Given the description of an element on the screen output the (x, y) to click on. 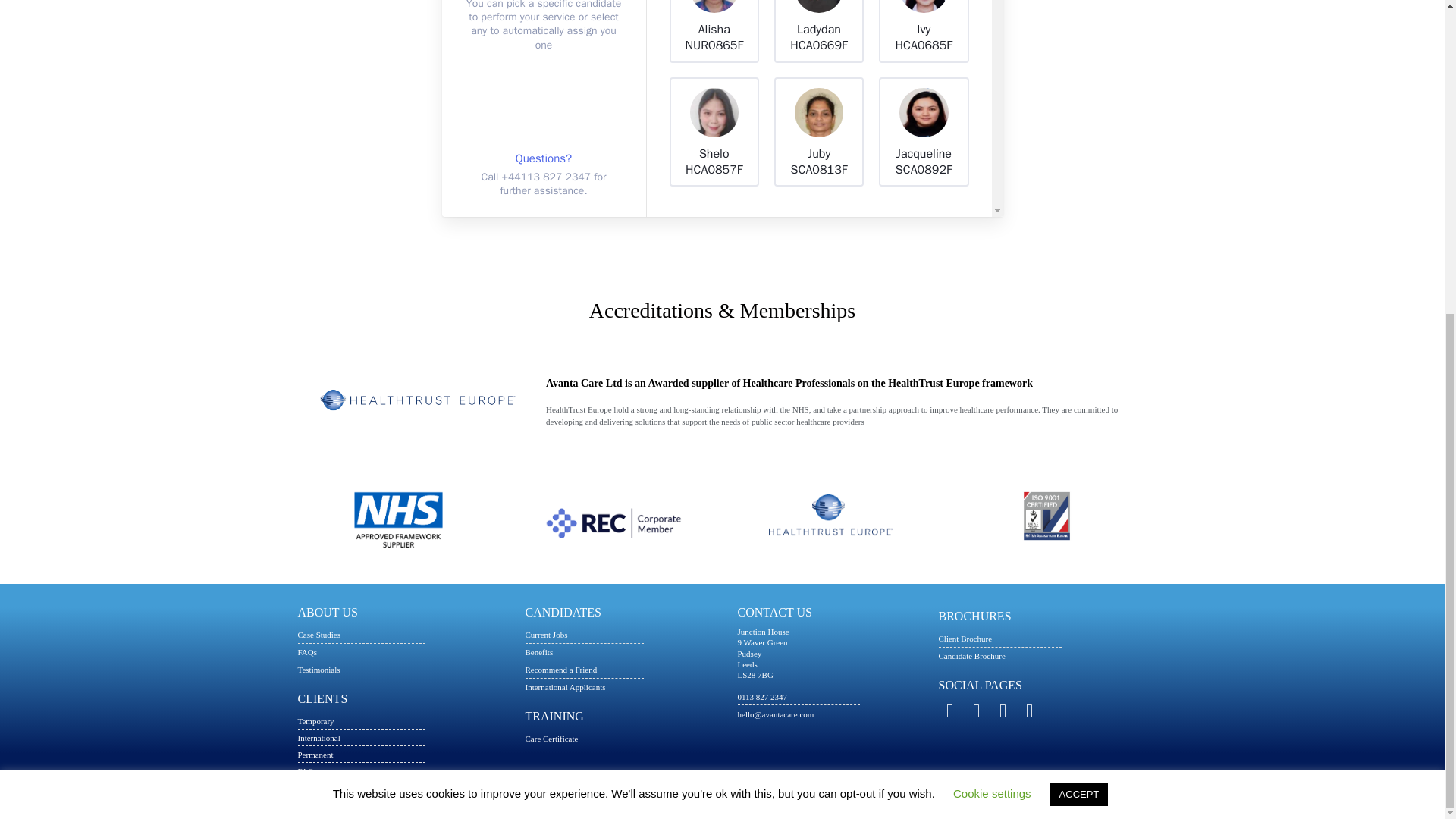
FAQs (403, 651)
FAQs (403, 770)
Temporary (403, 720)
International (403, 737)
Permanent (403, 754)
Testimonials (403, 669)
CLIENTS (322, 698)
Current Jobs (623, 634)
CANDIDATES (561, 612)
ABOUT US (326, 612)
